Given the description of an element on the screen output the (x, y) to click on. 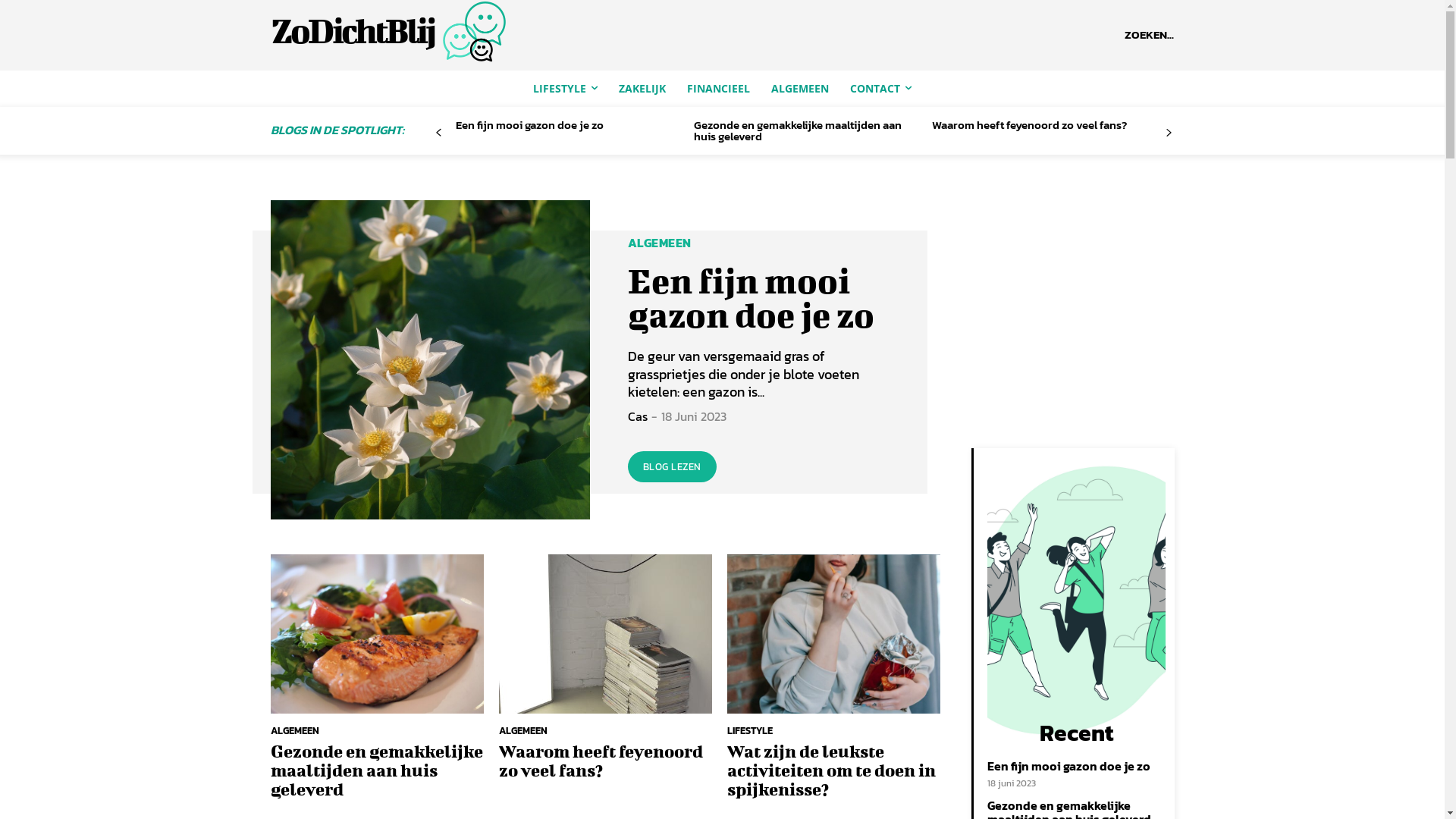
ZoDichtBlij Element type: text (420, 31)
ALGEMEEN Element type: text (522, 730)
ALGEMEEN Element type: text (799, 87)
ALGEMEEN Element type: text (293, 730)
Gezonde en gemakkelijke maaltijden aan huis geleverd Element type: text (375, 769)
ZOEKEN... Element type: text (1148, 34)
Wat zijn de leukste activiteiten om te doen in spijkenisse? Element type: hover (833, 633)
BLOG LEZEN Element type: text (671, 466)
Een fijn mooi gazon doe je zo Element type: hover (429, 359)
Een fijn mooi gazon doe je zo Element type: text (750, 297)
ALGEMEEN Element type: text (659, 242)
FINANCIEEL Element type: text (718, 87)
LIFESTYLE Element type: text (749, 730)
Een fijn mooi gazon doe je zo Element type: text (1068, 765)
Wat zijn de leukste activiteiten om te doen in spijkenisse? Element type: text (831, 769)
Gezonde en gemakkelijke maaltijden aan huis geleverd Element type: text (797, 130)
CONTACT Element type: text (880, 87)
LIFESTYLE Element type: text (565, 87)
Waarom heeft feyenoord zo veel fans? Element type: text (1028, 124)
ZAKELIJK Element type: text (642, 87)
Cas Element type: text (637, 416)
Waarom heeft feyenoord zo veel fans? Element type: hover (605, 633)
Een fijn mooi gazon doe je zo Element type: text (529, 124)
Waarom heeft feyenoord zo veel fans? Element type: text (600, 759)
Gezonde en gemakkelijke maaltijden aan huis geleverd Element type: hover (376, 633)
